Given the description of an element on the screen output the (x, y) to click on. 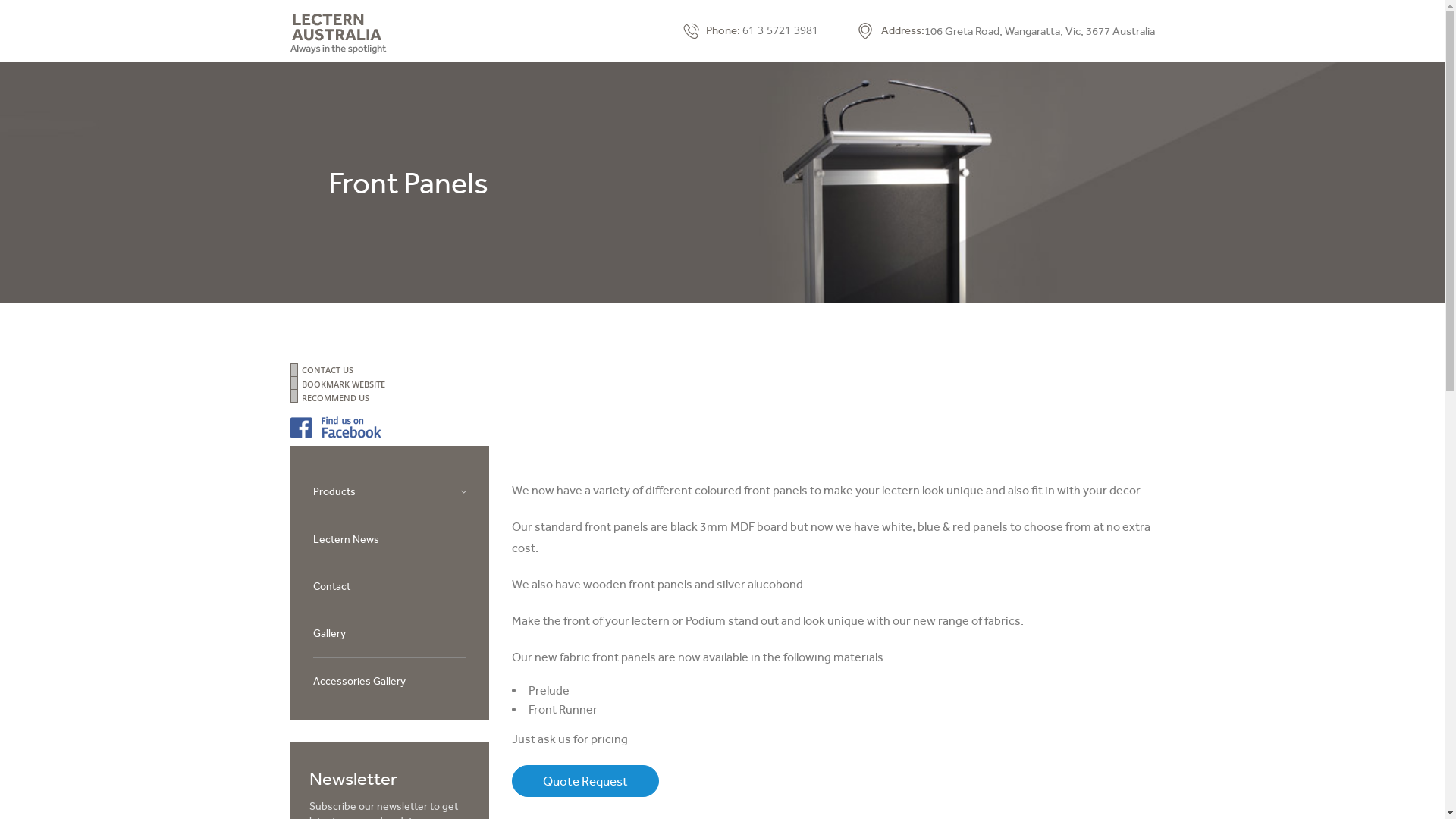
61 3 5721 3981 Element type: text (779, 29)
Accessories Gallery Element type: text (358, 680)
Contact Element type: text (330, 585)
BOOKMARK WEBSITE Element type: text (733, 383)
CONTACT US Element type: text (733, 369)
Gallery Element type: text (328, 632)
Products Element type: text (333, 490)
RECOMMEND US Element type: text (733, 397)
Quote Request Element type: text (584, 781)
Lectern News Element type: text (345, 538)
